Given the description of an element on the screen output the (x, y) to click on. 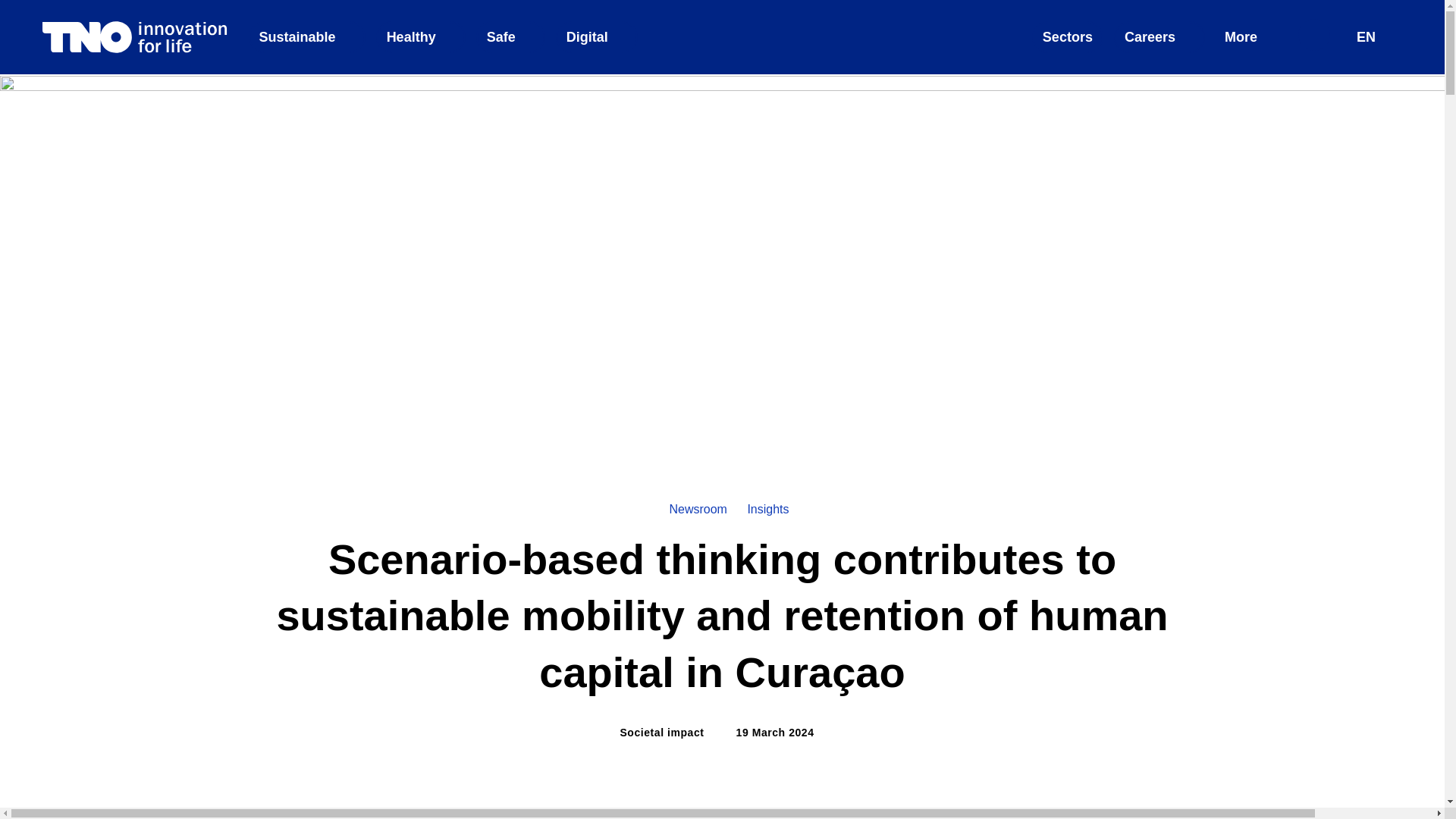
Careers (1159, 37)
Newsroom (697, 509)
Digital (596, 37)
Sustainable (306, 37)
More (1248, 36)
Safe (510, 37)
English (1373, 37)
Sectors (1373, 36)
Insights (1067, 37)
